Given the description of an element on the screen output the (x, y) to click on. 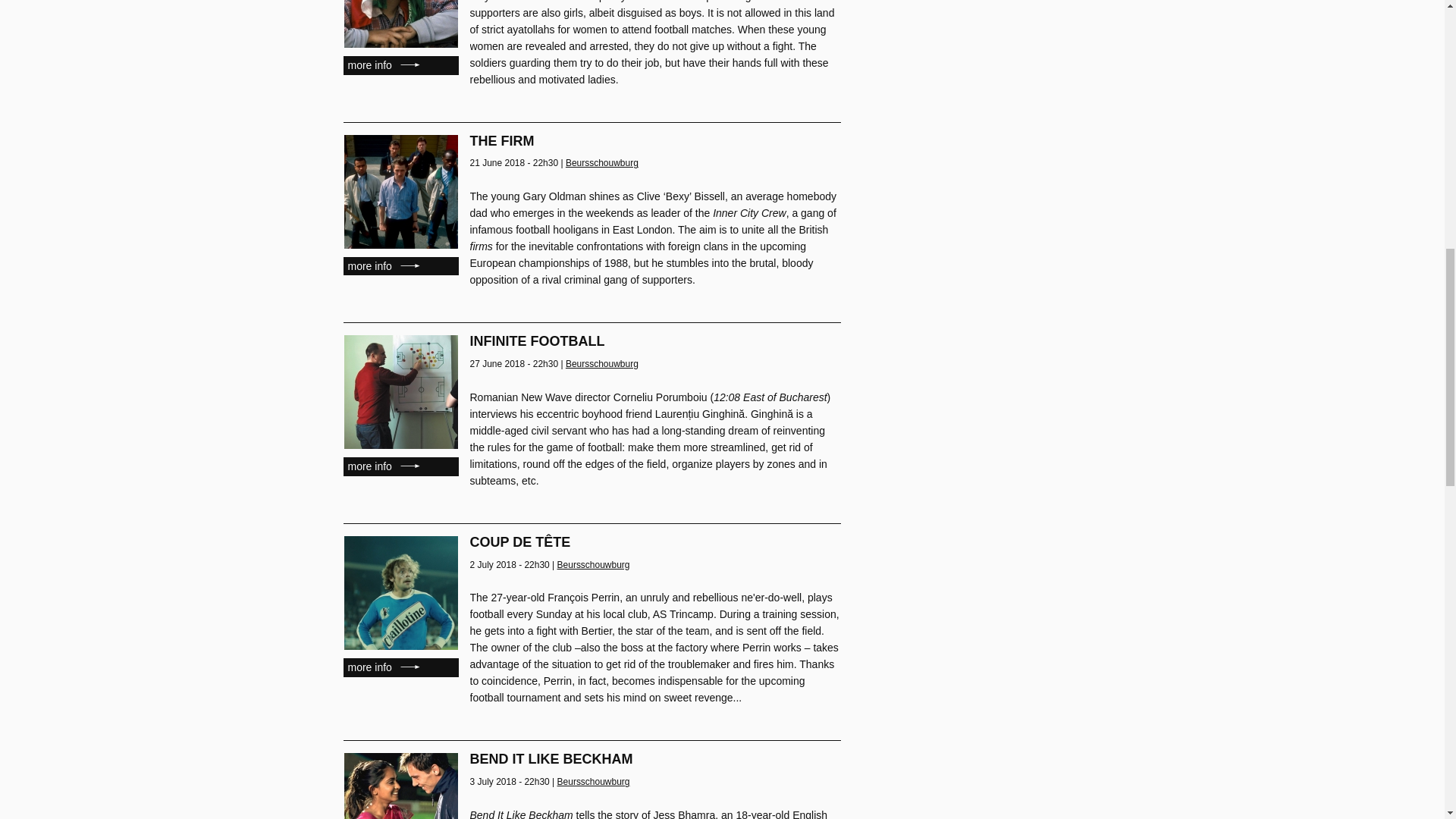
Beursschouwburg (593, 564)
THE FIRM (502, 140)
Beursschouwburg (602, 363)
more info (400, 266)
more info (400, 667)
Beursschouwburg (602, 163)
INFINITE FOOTBALL (537, 340)
more info (400, 65)
more info (400, 466)
